Given the description of an element on the screen output the (x, y) to click on. 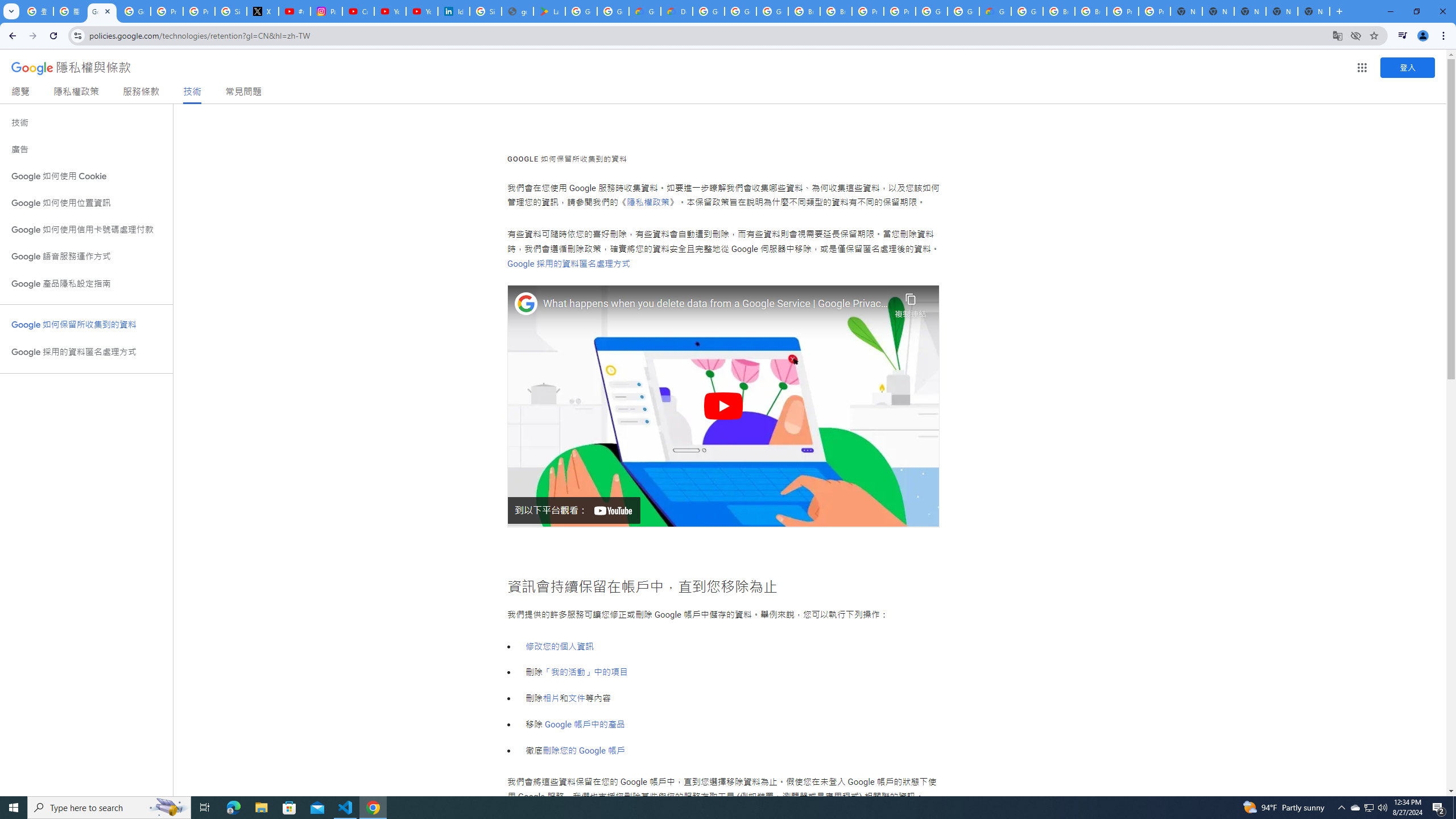
Translate this page (1336, 35)
Control your music, videos, and more (1402, 35)
Browse Chrome as a guest - Computer - Google Chrome Help (1091, 11)
Google Cloud Estimate Summary (995, 11)
Government | Google Cloud (644, 11)
